Given the description of an element on the screen output the (x, y) to click on. 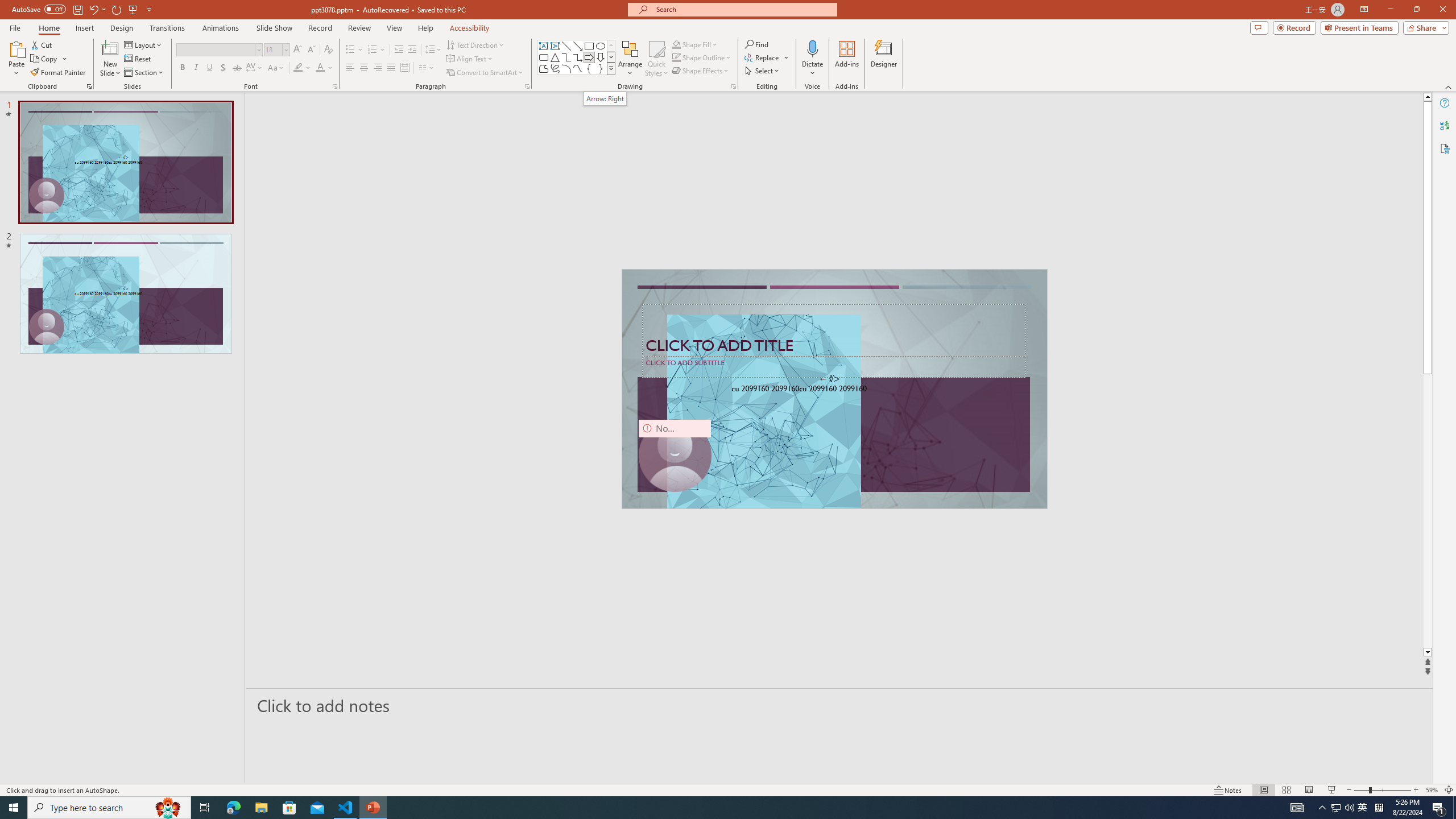
Rectangle: Rounded Corners (543, 57)
Connector: Elbow (566, 57)
Font Color Red (320, 67)
Italic (195, 67)
